Given the description of an element on the screen output the (x, y) to click on. 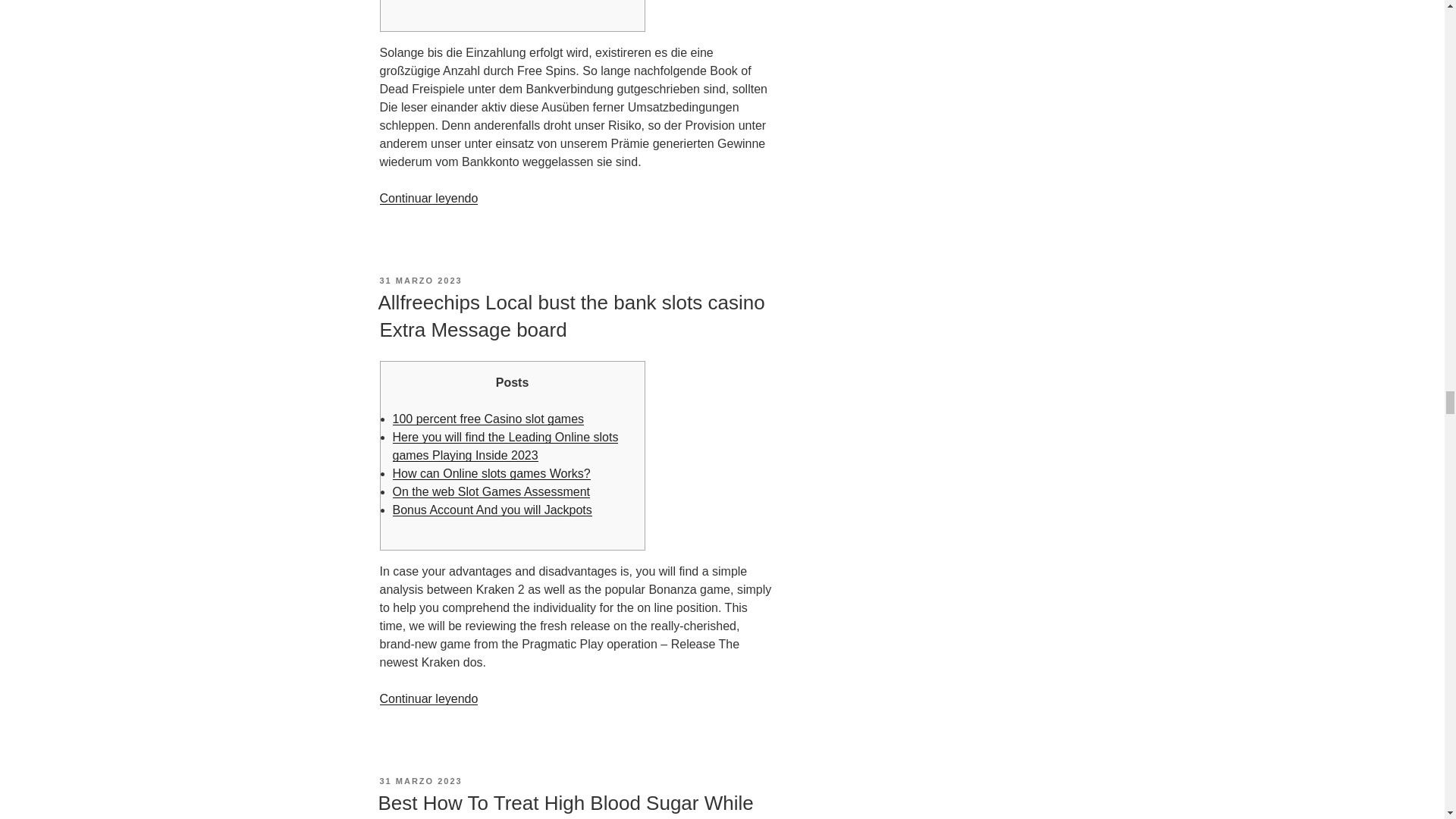
100 percent free Casino slot games (489, 418)
31 MARZO 2023 (419, 280)
Bonus Account And you will Jackpots (492, 509)
How can Online slots games Works? (492, 472)
31 MARZO 2023 (419, 780)
On the web Slot Games Assessment (492, 491)
